Given the description of an element on the screen output the (x, y) to click on. 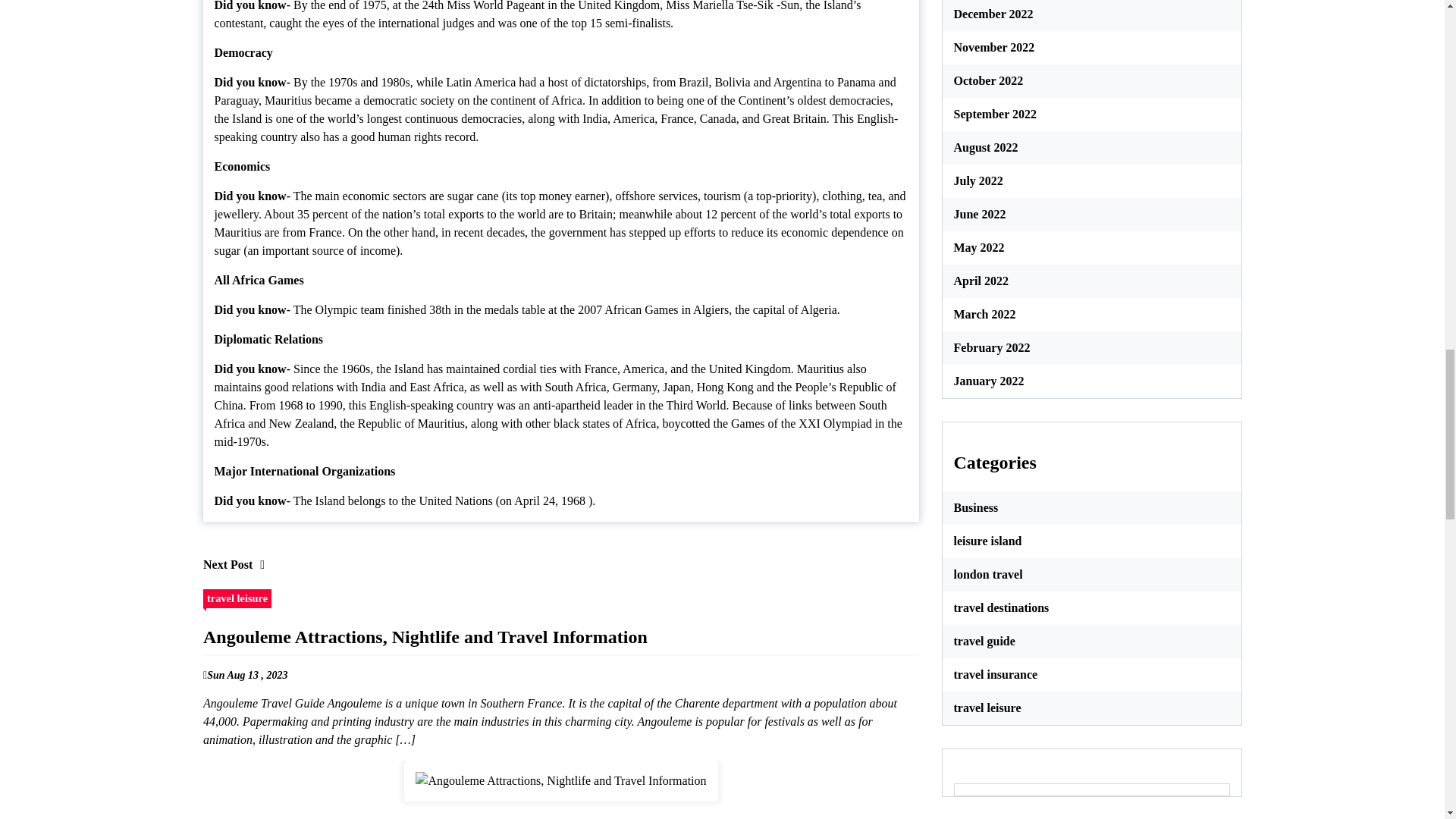
Angouleme Attractions, Nightlife and Travel Information (560, 780)
